Given the description of an element on the screen output the (x, y) to click on. 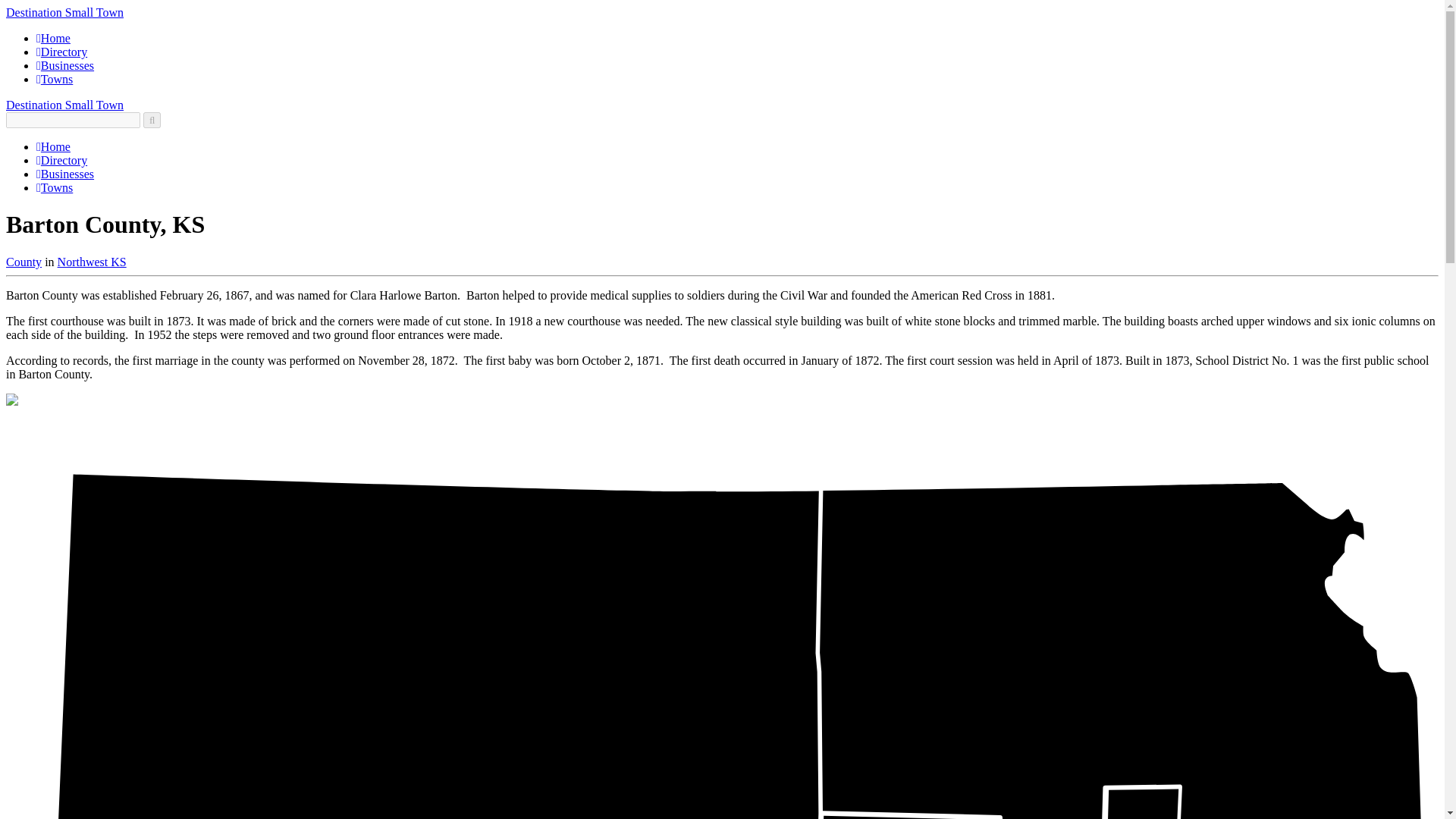
County (23, 261)
Destination Small Town (64, 104)
Northwest KS (92, 261)
Directory (61, 51)
Towns (54, 187)
Businesses (65, 173)
Businesses (65, 65)
Directory (61, 160)
Home (52, 146)
Destination Small Town (64, 11)
Home (52, 38)
Towns (54, 78)
